Given the description of an element on the screen output the (x, y) to click on. 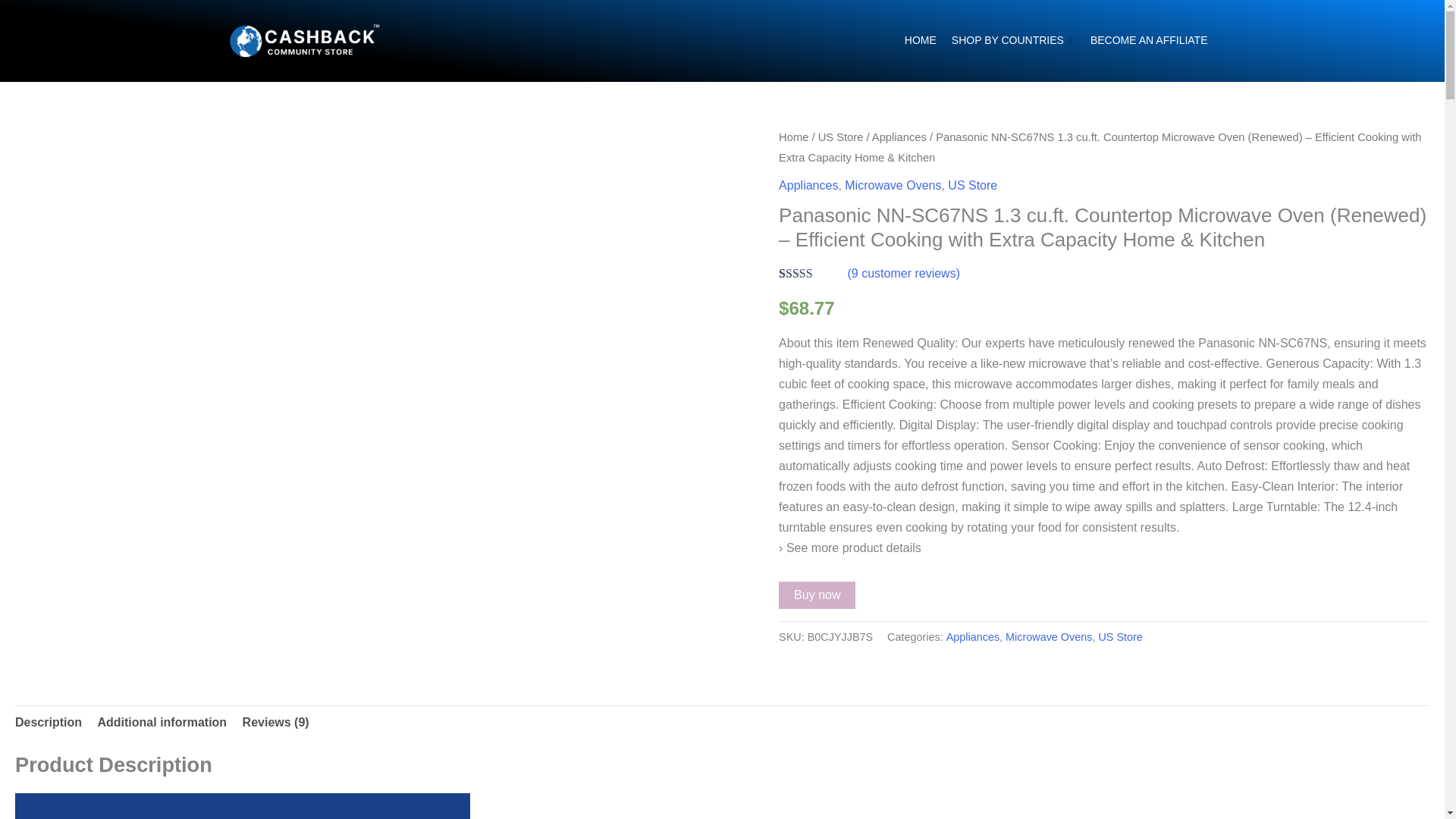
SHOP BY COUNTRIES (1013, 40)
